Given the description of an element on the screen output the (x, y) to click on. 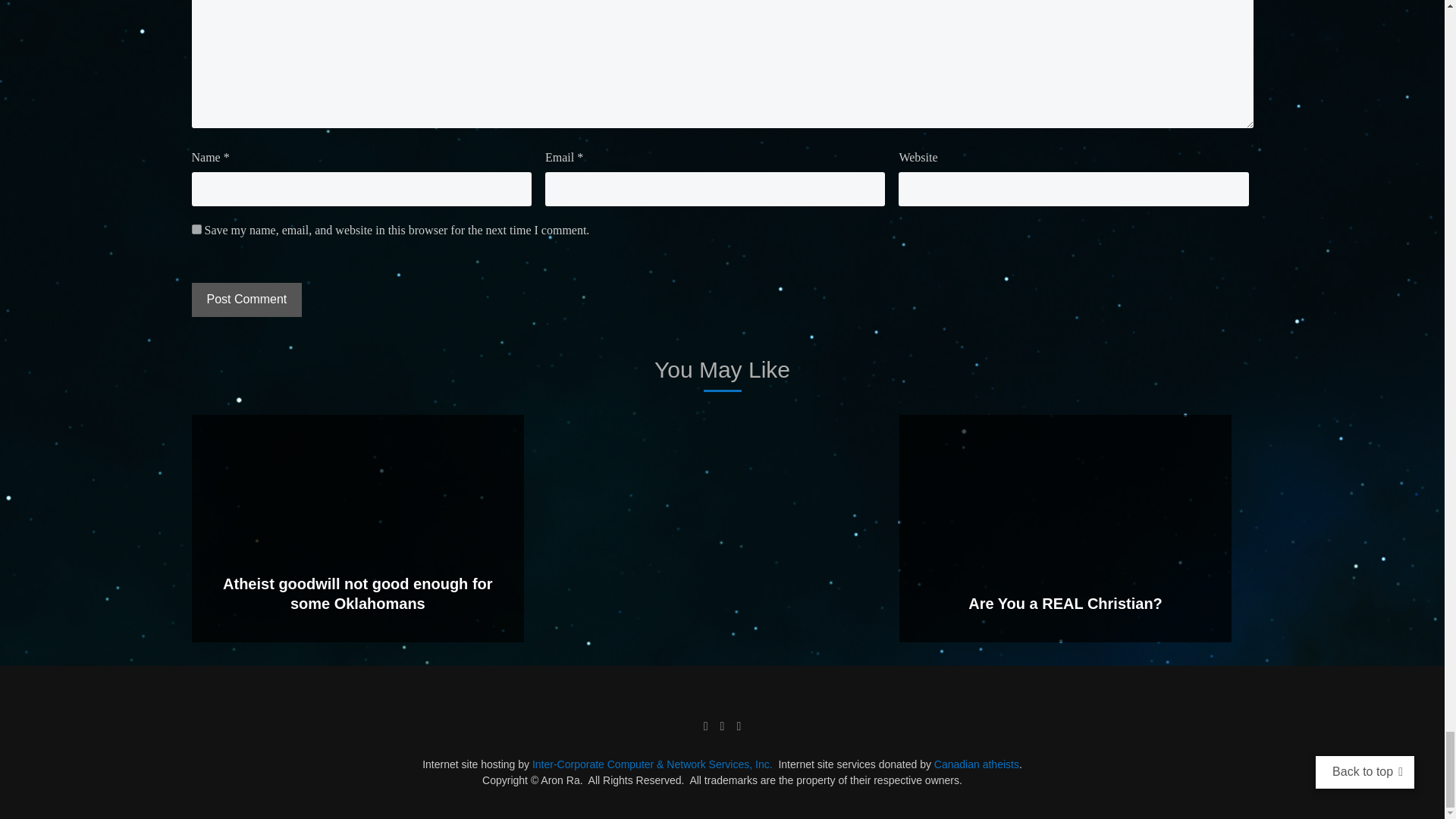
Atheist goodwill not good enough for some Oklahomans (357, 593)
Post Comment (245, 299)
yes (195, 229)
Are You a REAL Christian? (1064, 603)
